Given the description of an element on the screen output the (x, y) to click on. 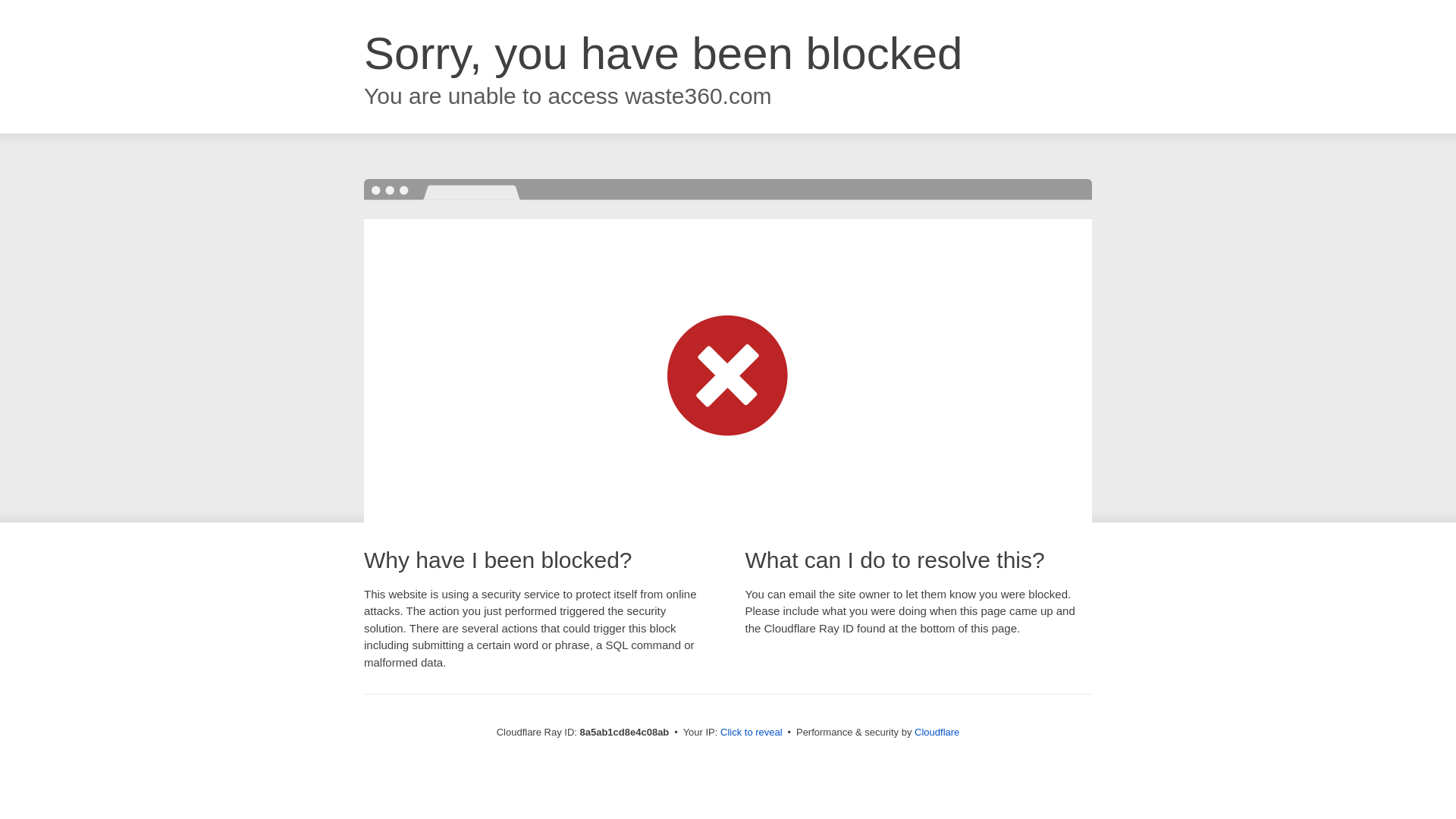
Click to reveal (751, 732)
Cloudflare (936, 731)
